Given the description of an element on the screen output the (x, y) to click on. 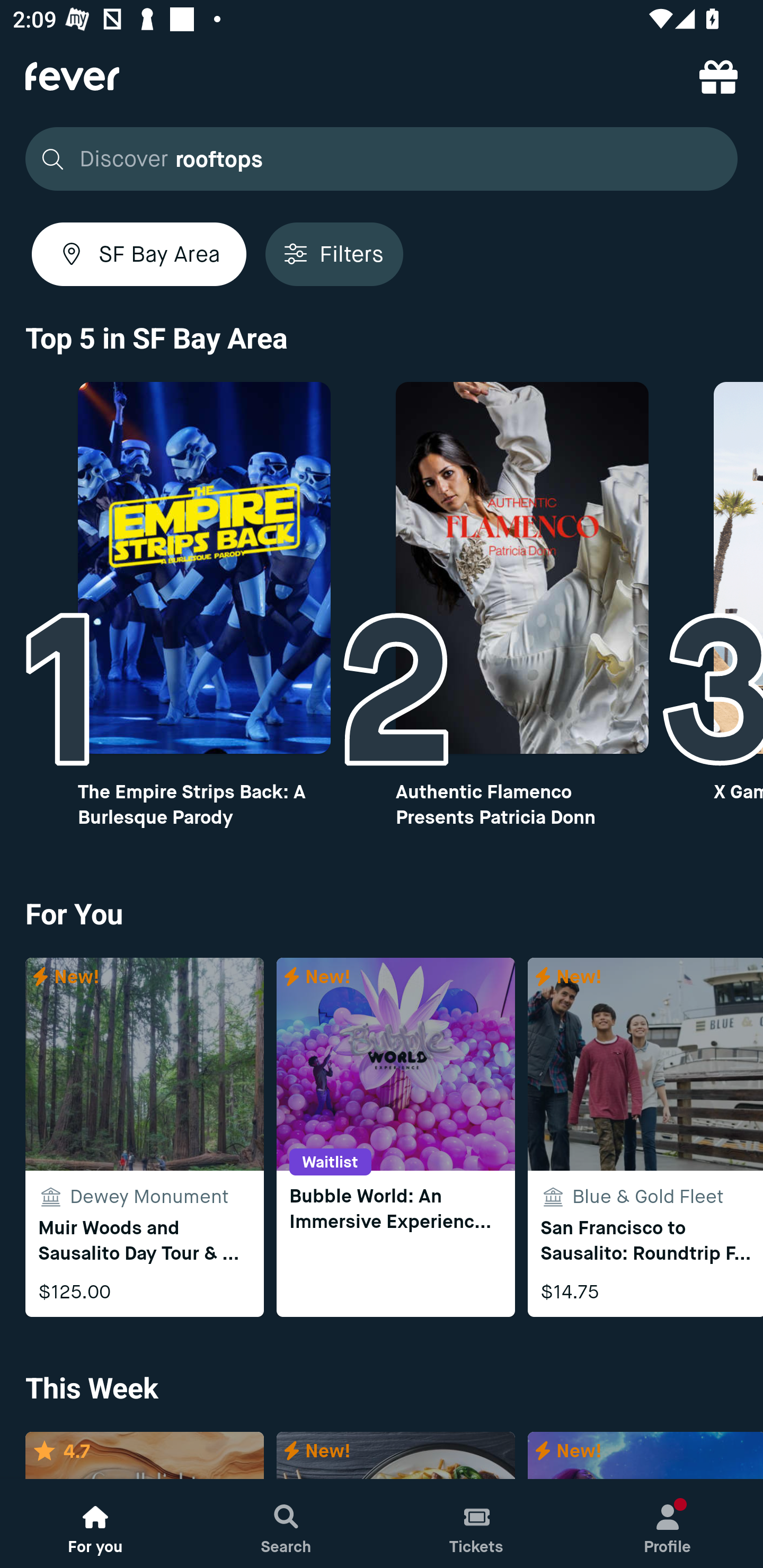
referral (718, 75)
Discover exhibitions rooftops (381, 158)
Discover exhibitions rooftops (376, 158)
SF Bay Area (139, 253)
Filters (333, 253)
Top10 image (203, 568)
Top10 image (521, 568)
Search (285, 1523)
Tickets (476, 1523)
Profile, New notification Profile (667, 1523)
